Given the description of an element on the screen output the (x, y) to click on. 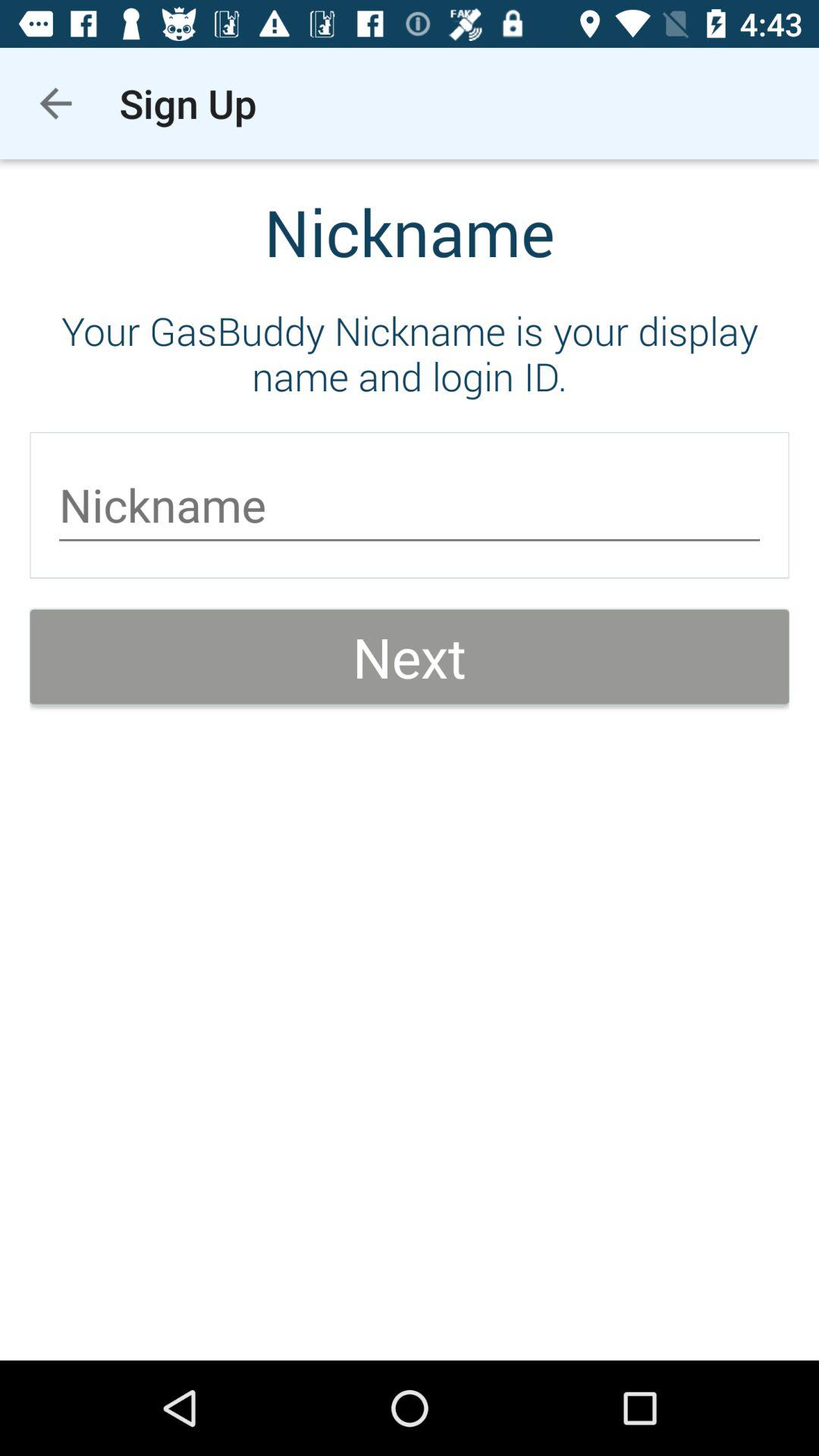
open app next to the sign up icon (55, 103)
